Given the description of an element on the screen output the (x, y) to click on. 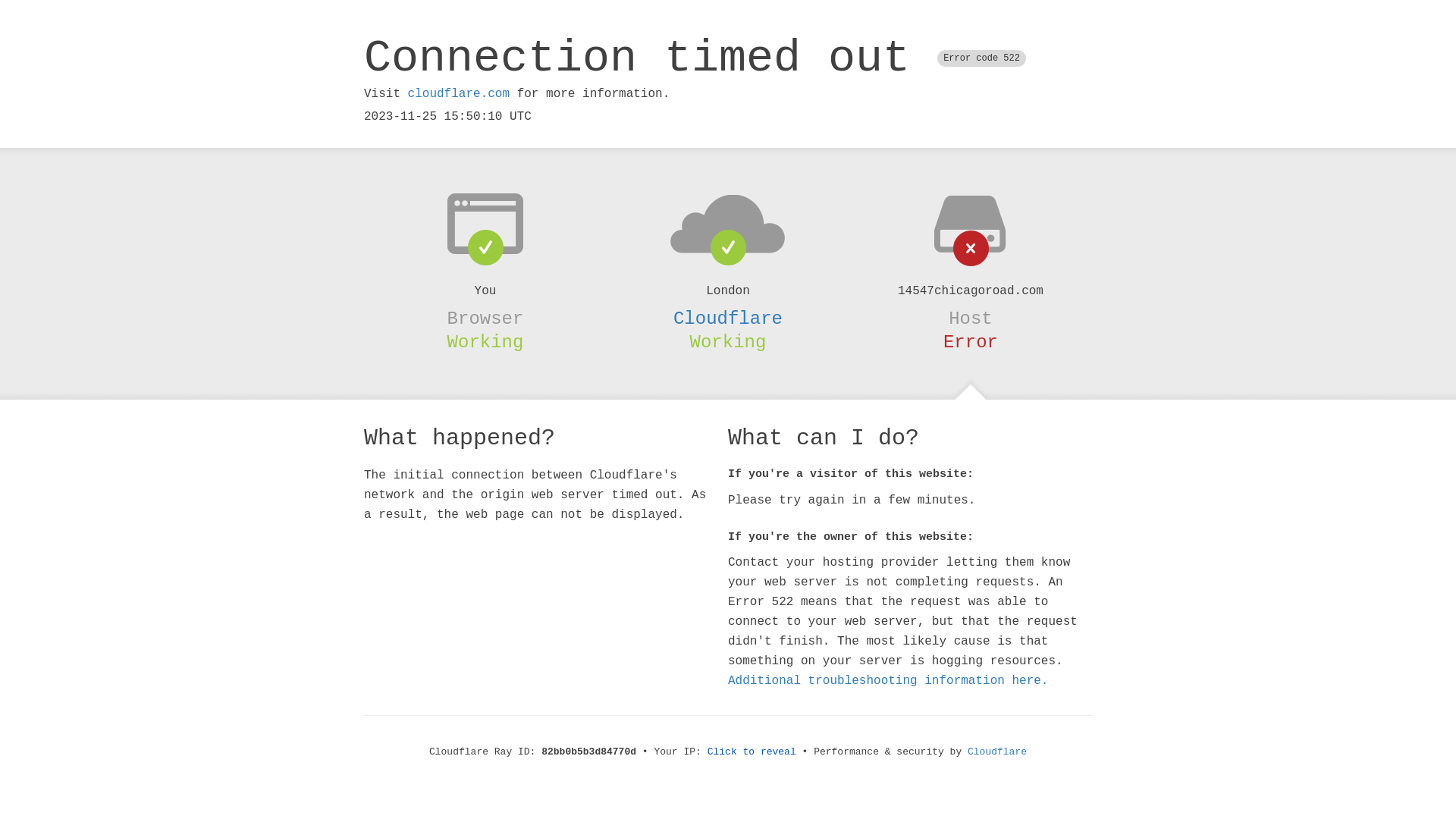
Click to reveal Element type: text (751, 751)
Additional troubleshooting information here. Element type: text (888, 680)
cloudflare.com Element type: text (458, 93)
Cloudflare Element type: text (996, 751)
Cloudflare Element type: text (727, 318)
